Given the description of an element on the screen output the (x, y) to click on. 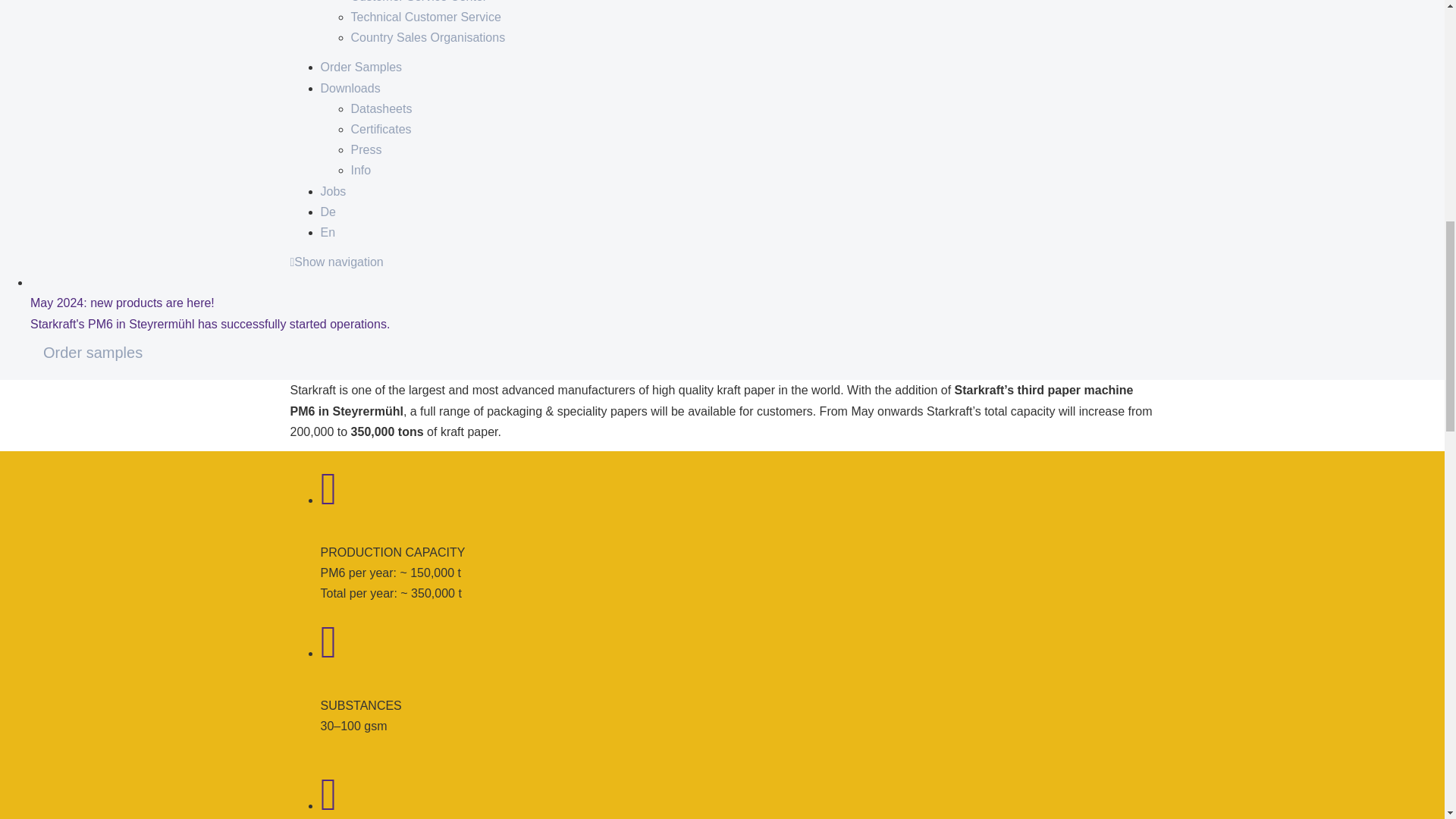
Downloads (350, 88)
Certificates (380, 128)
Order Samples (360, 66)
Press (365, 149)
Customer Service Center (418, 1)
Country Sales Organisations (427, 37)
Datasheets (381, 108)
Technical Customer Service (425, 16)
